Given the description of an element on the screen output the (x, y) to click on. 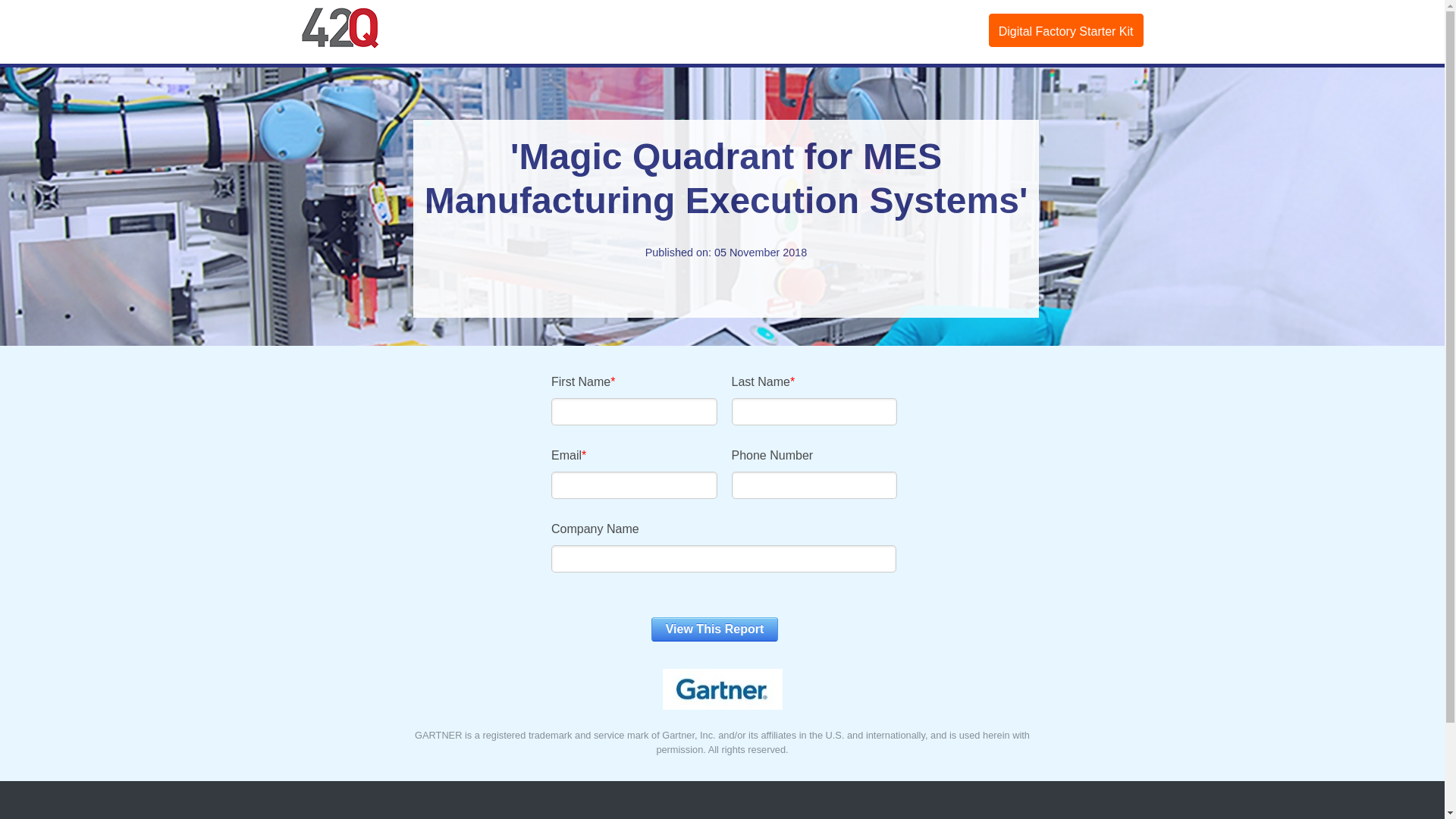
Digital Factory Starter Kit Element type: text (1065, 30)
42Q logo Element type: hover (340, 27)
View This Report Element type: text (714, 629)
